Given the description of an element on the screen output the (x, y) to click on. 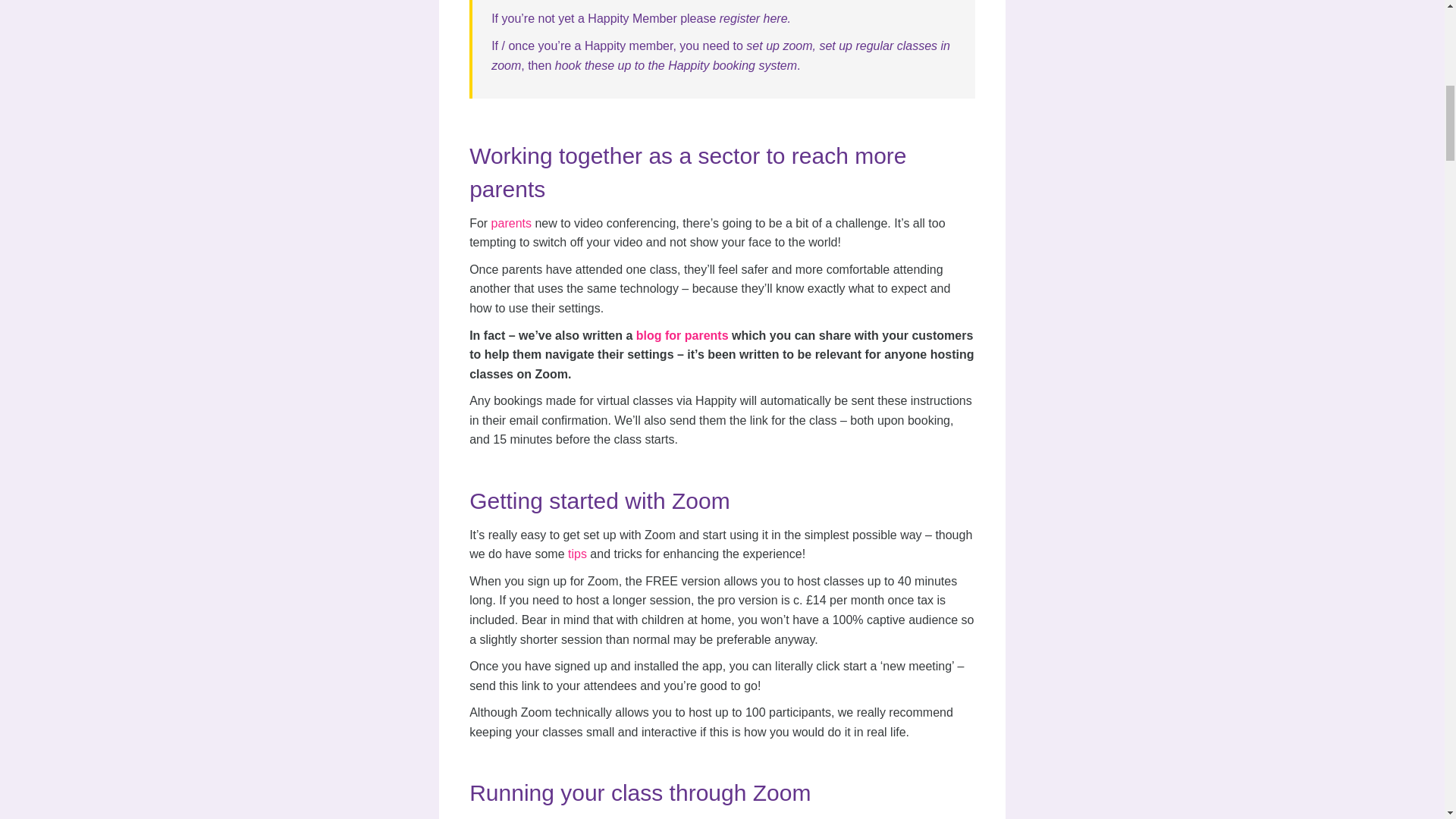
register here. (754, 18)
set up regular classes in zoom (721, 55)
set up zoom (778, 45)
blog for parents (682, 335)
hook these up to the Happity booking system (675, 65)
tips (576, 553)
parents (511, 223)
